Given the description of an element on the screen output the (x, y) to click on. 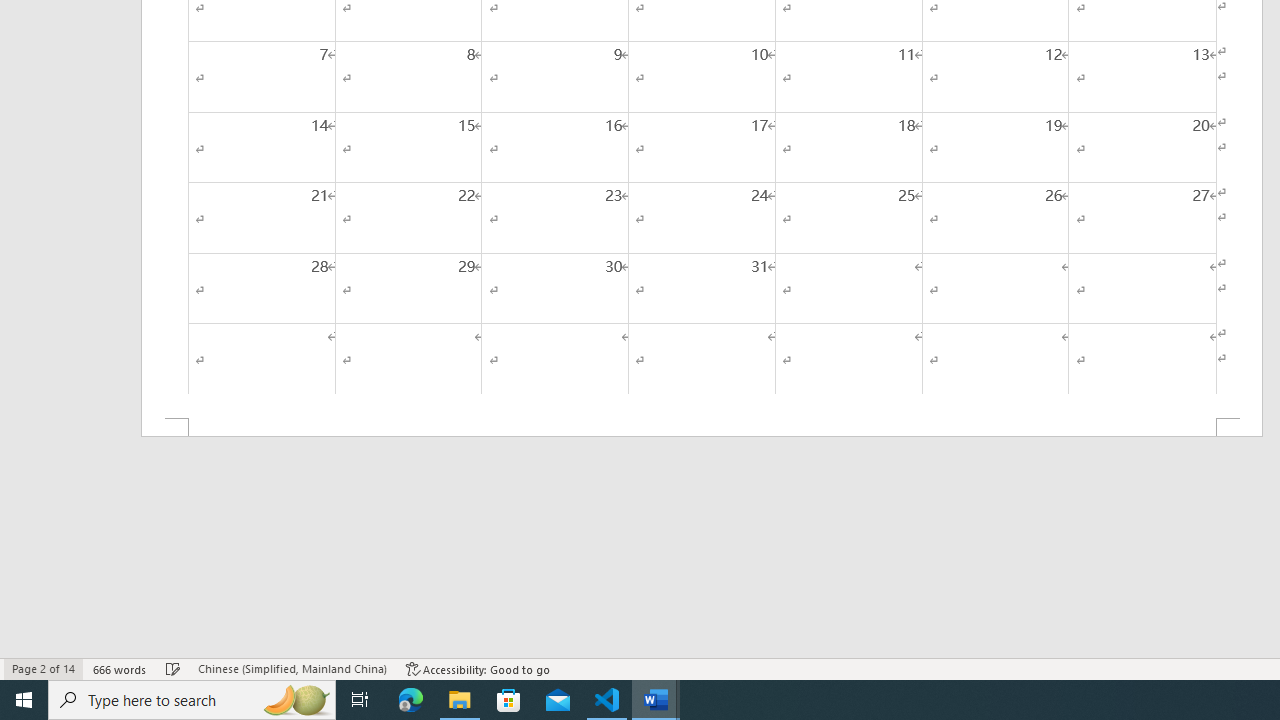
Accessibility Checker Accessibility: Good to go (478, 668)
Page Number Page 2 of 14 (43, 668)
Word Count 666 words (119, 668)
Language Chinese (Simplified, Mainland China) (292, 668)
Spelling and Grammar Check Checking (173, 668)
Footer -Section 1- (701, 427)
